Given the description of an element on the screen output the (x, y) to click on. 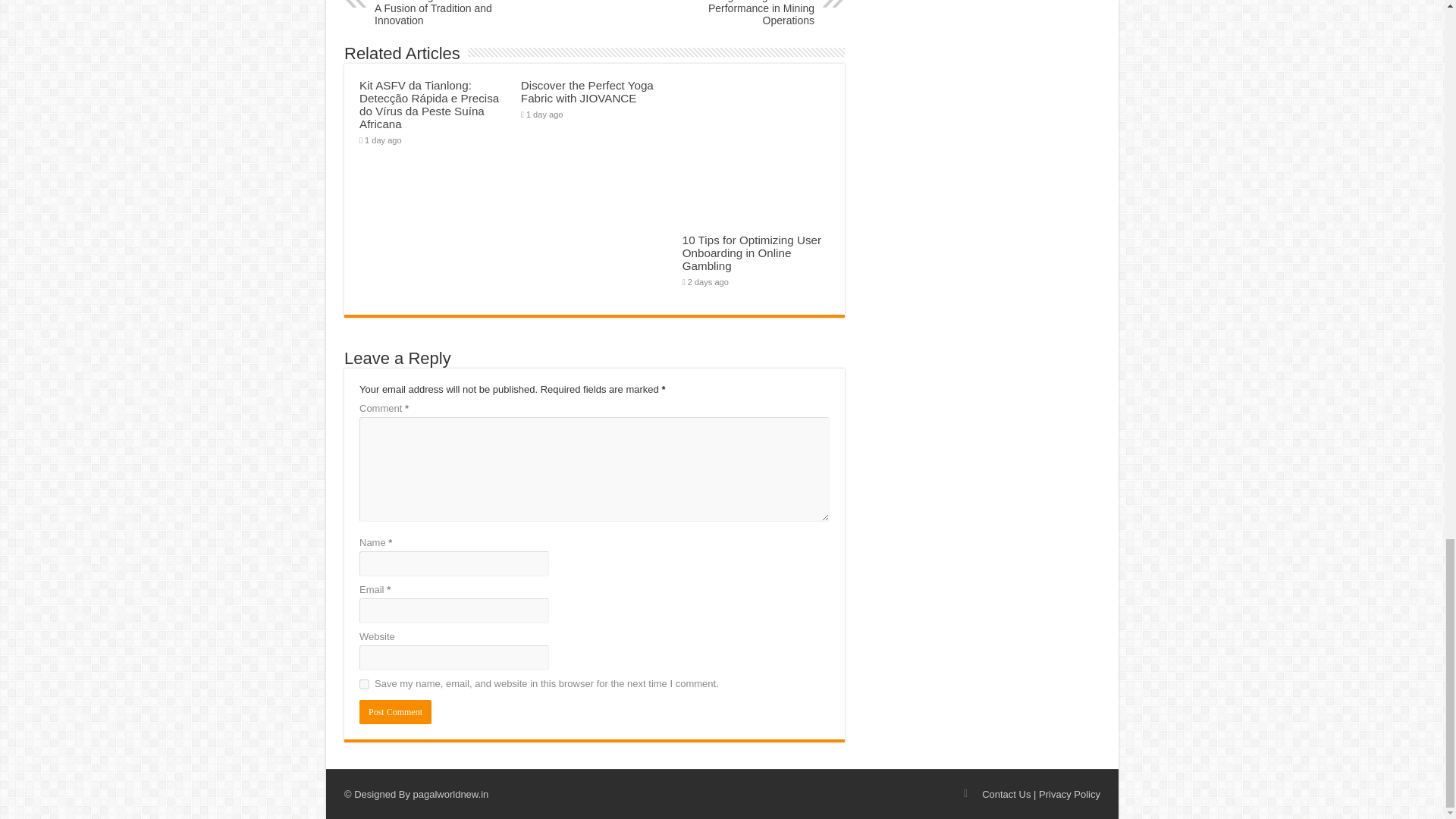
10 Tips for Optimizing User Onboarding in Online Gambling (751, 252)
Discover the Perfect Yoga Fabric with JIOVANCE (587, 91)
Post Comment (394, 711)
yes (364, 684)
